Given the description of an element on the screen output the (x, y) to click on. 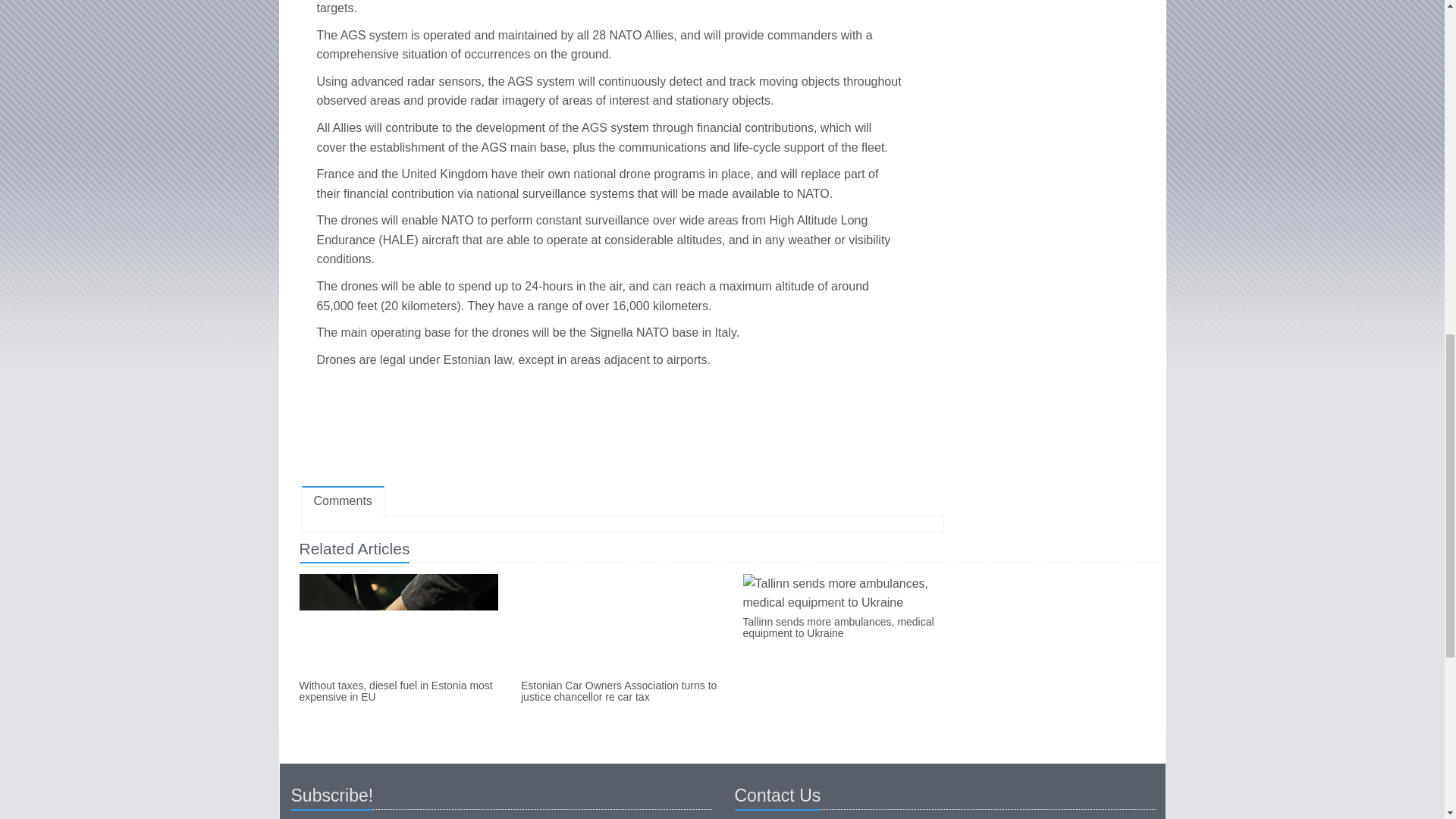
Tallinn sends more ambulances, medical equipment to Ukraine (842, 627)
Comments (342, 501)
Without taxes, diesel fuel in Estonia most expensive in EU (397, 691)
